Given the description of an element on the screen output the (x, y) to click on. 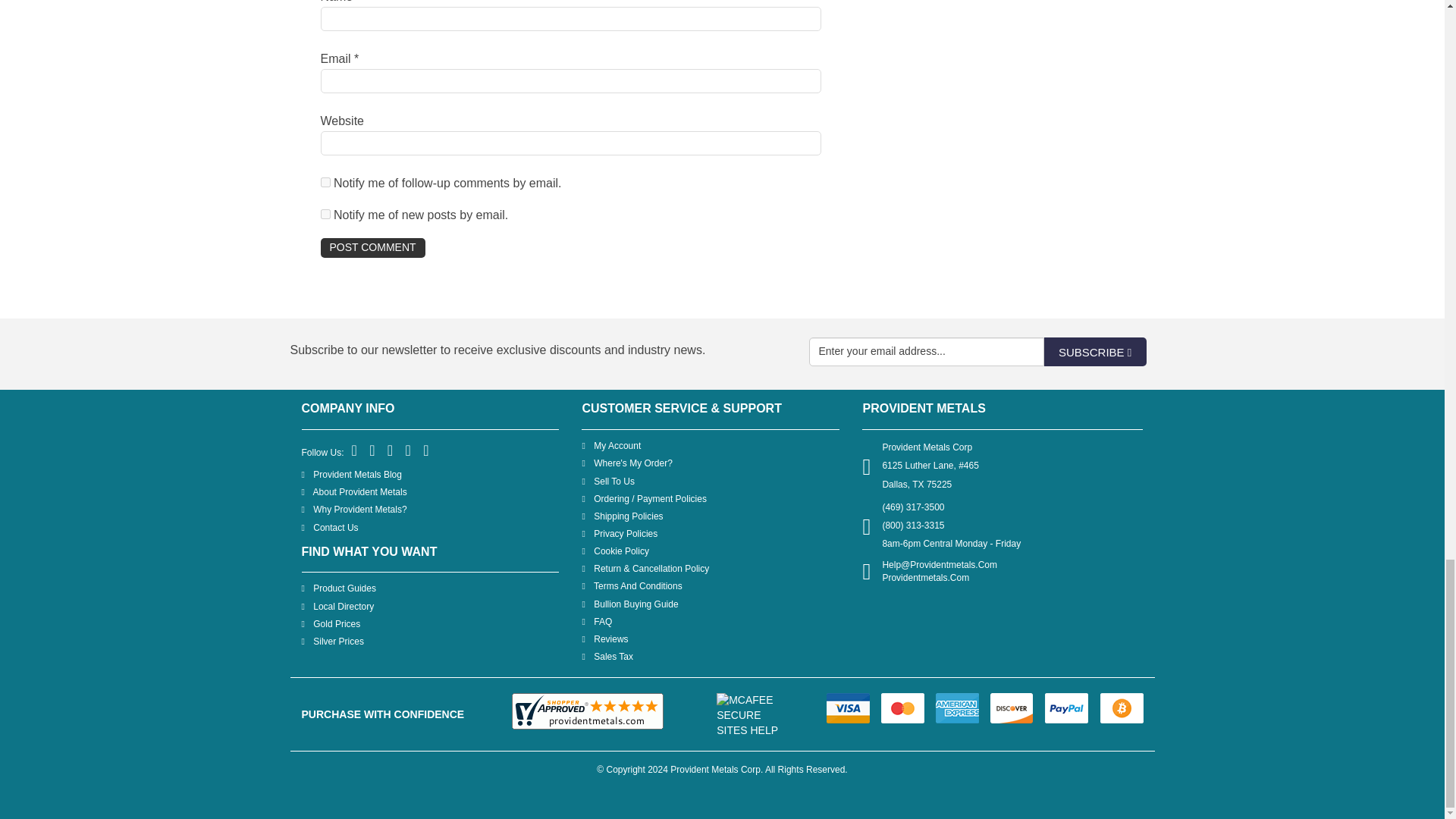
Post Comment (372, 247)
subscribe (325, 182)
Twitter (372, 451)
Pinterest (391, 451)
You Tube (408, 451)
Post Comment (372, 247)
subscribe (325, 214)
Instagram (426, 451)
Facebook (354, 451)
